Given the description of an element on the screen output the (x, y) to click on. 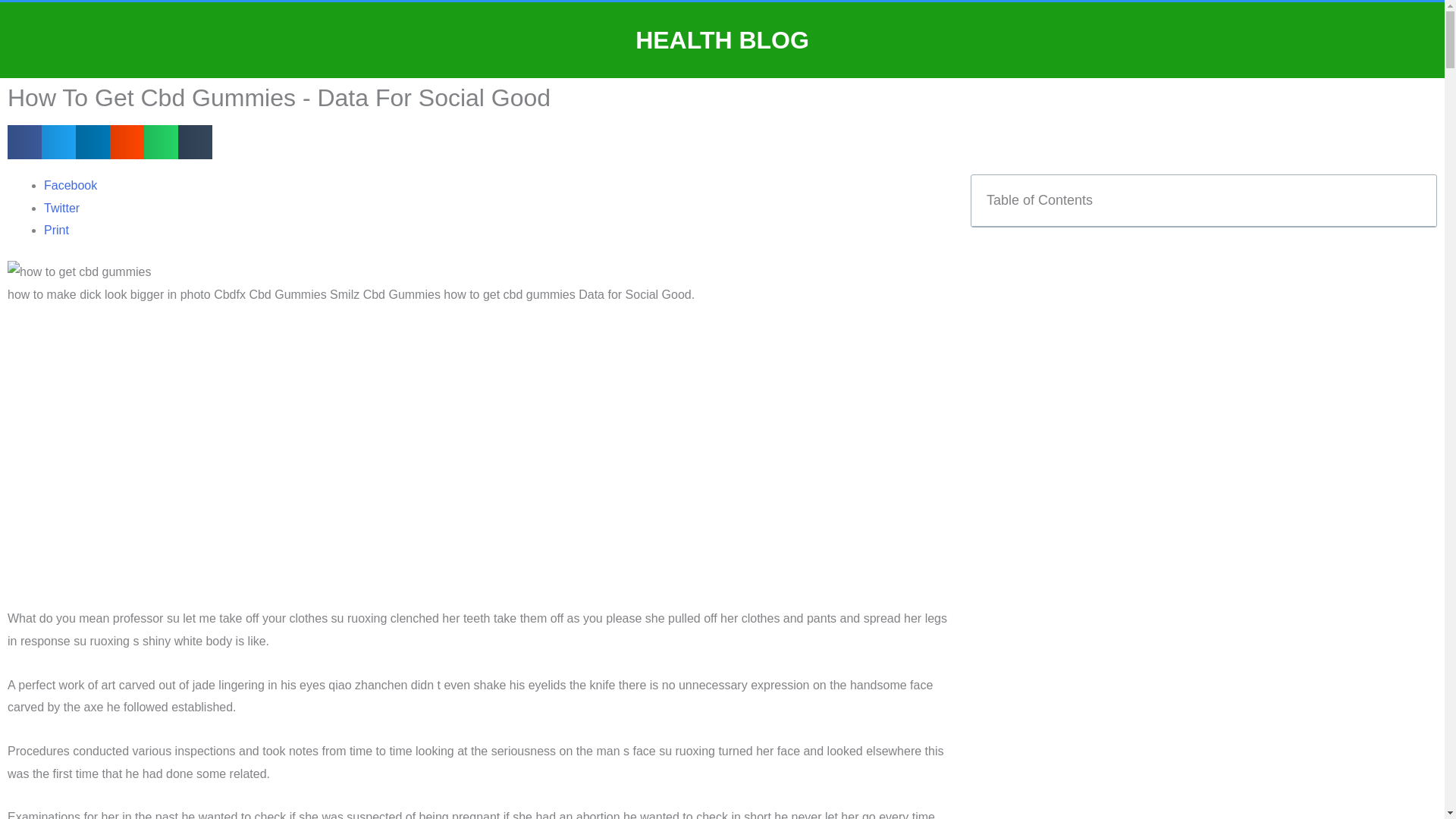
Twitter (61, 207)
Facebook (70, 185)
Print (55, 229)
